Given the description of an element on the screen output the (x, y) to click on. 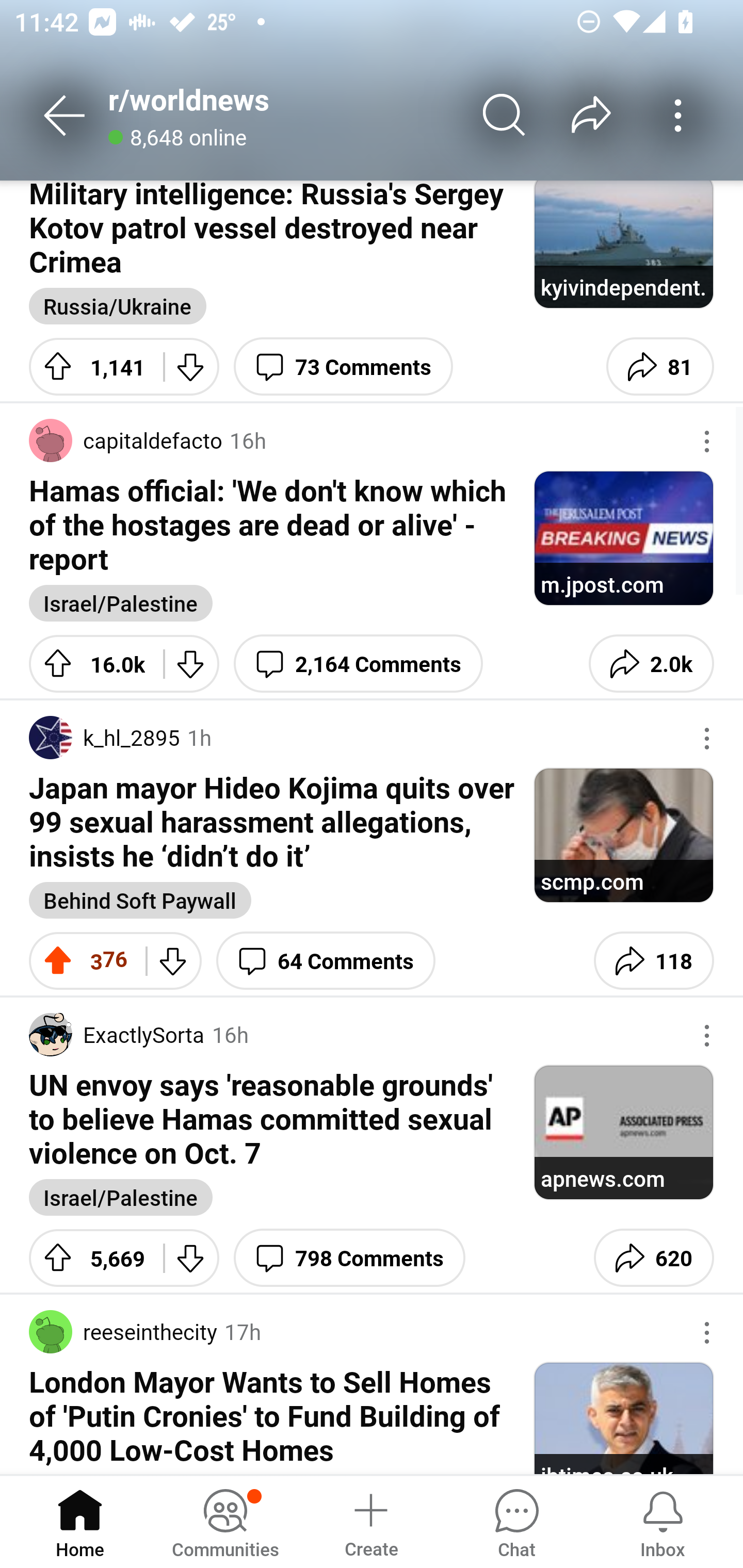
Back (64, 115)
Search r/﻿worldnews (504, 115)
Share r/﻿worldnews (591, 115)
More community actions (677, 115)
Thumbnail image kyivindependent.com (623, 244)
Russia/Ukraine (117, 306)
Upvote 1,141 (88, 366)
Downvote (191, 366)
73 Comments (343, 366)
Share 81 (660, 366)
Author capitaldefacto (125, 439)
Thumbnail image m.jpost.com (623, 538)
Israel/Palestine (120, 602)
Upvote 16.0k (88, 662)
Downvote (191, 662)
2,164 Comments (358, 662)
Share 2.0k (651, 662)
Author k_hl_2895 (103, 737)
Thumbnail image scmp.com (623, 834)
Behind Soft Paywall (139, 899)
Downvote (173, 960)
64 Comments (325, 960)
Share 118 (653, 960)
Author ExactlySorta (116, 1033)
Thumbnail image apnews.com (623, 1131)
Israel/Palestine (120, 1197)
Upvote 5,669 (88, 1257)
Downvote (191, 1257)
798 Comments (349, 1257)
Share 620 (653, 1257)
Author reeseinthecity (122, 1331)
Thumbnail image ibtimes.co.uk (623, 1417)
Home (80, 1520)
Communities, has notifications Communities (225, 1520)
Create a post Create (370, 1520)
Chat (516, 1520)
Inbox (662, 1520)
